Given the description of an element on the screen output the (x, y) to click on. 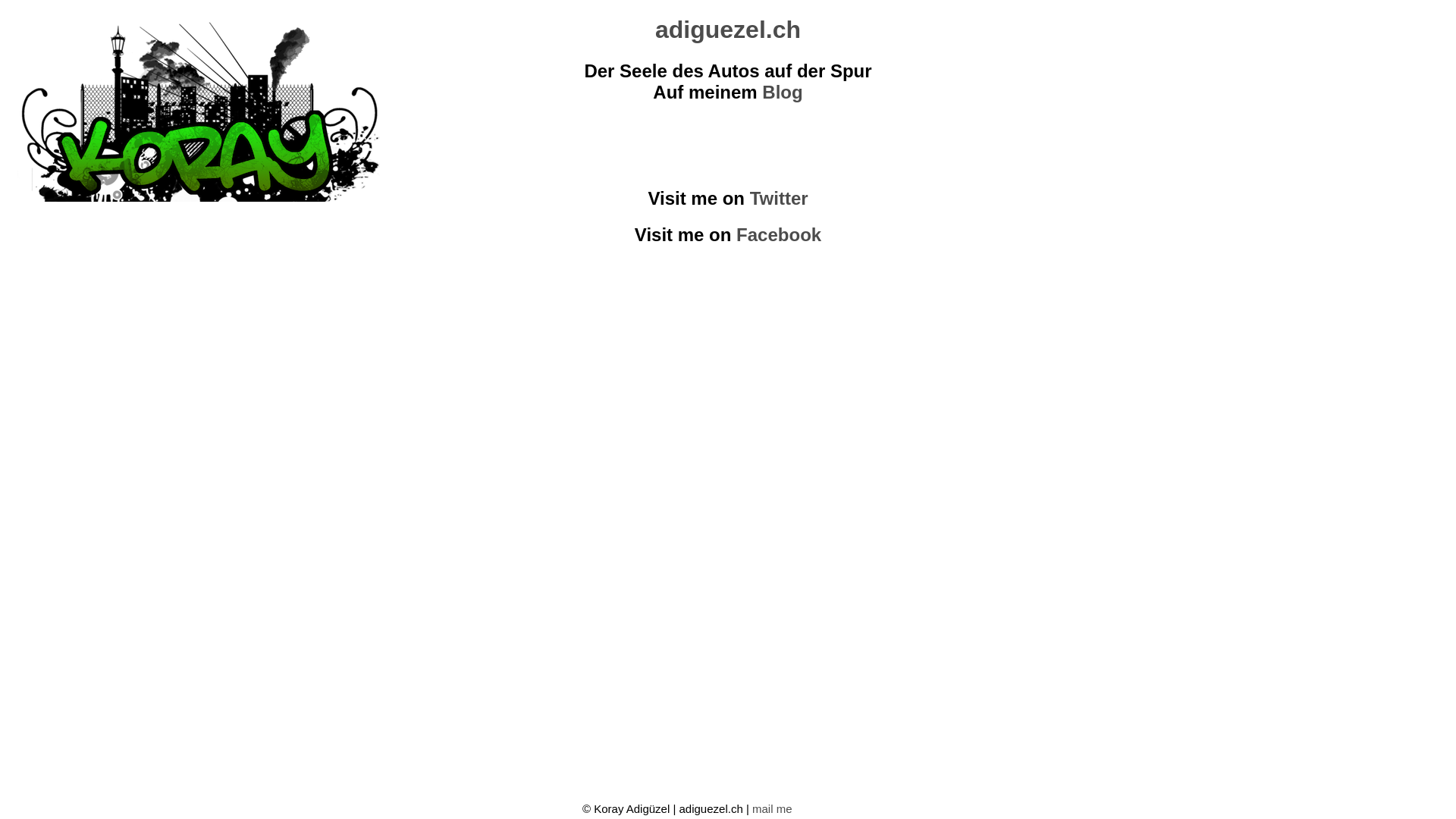
adiguezel.ch Element type: text (727, 29)
mail me Element type: text (772, 808)
Blog Element type: text (782, 91)
Facebook Element type: text (778, 234)
Twitter Element type: text (778, 198)
